Given the description of an element on the screen output the (x, y) to click on. 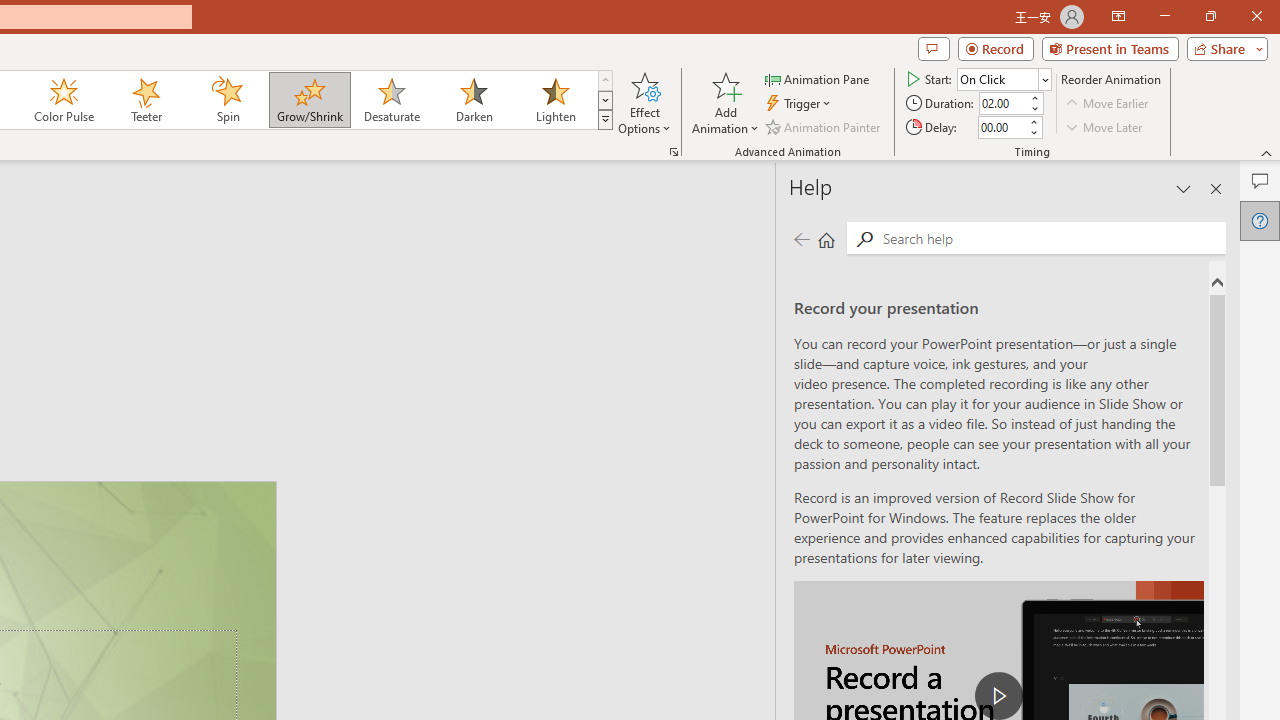
More (1033, 121)
Animation Painter (824, 126)
Animation Delay (1002, 127)
Move Later (1105, 126)
Desaturate (391, 100)
Less (1033, 132)
